Given the description of an element on the screen output the (x, y) to click on. 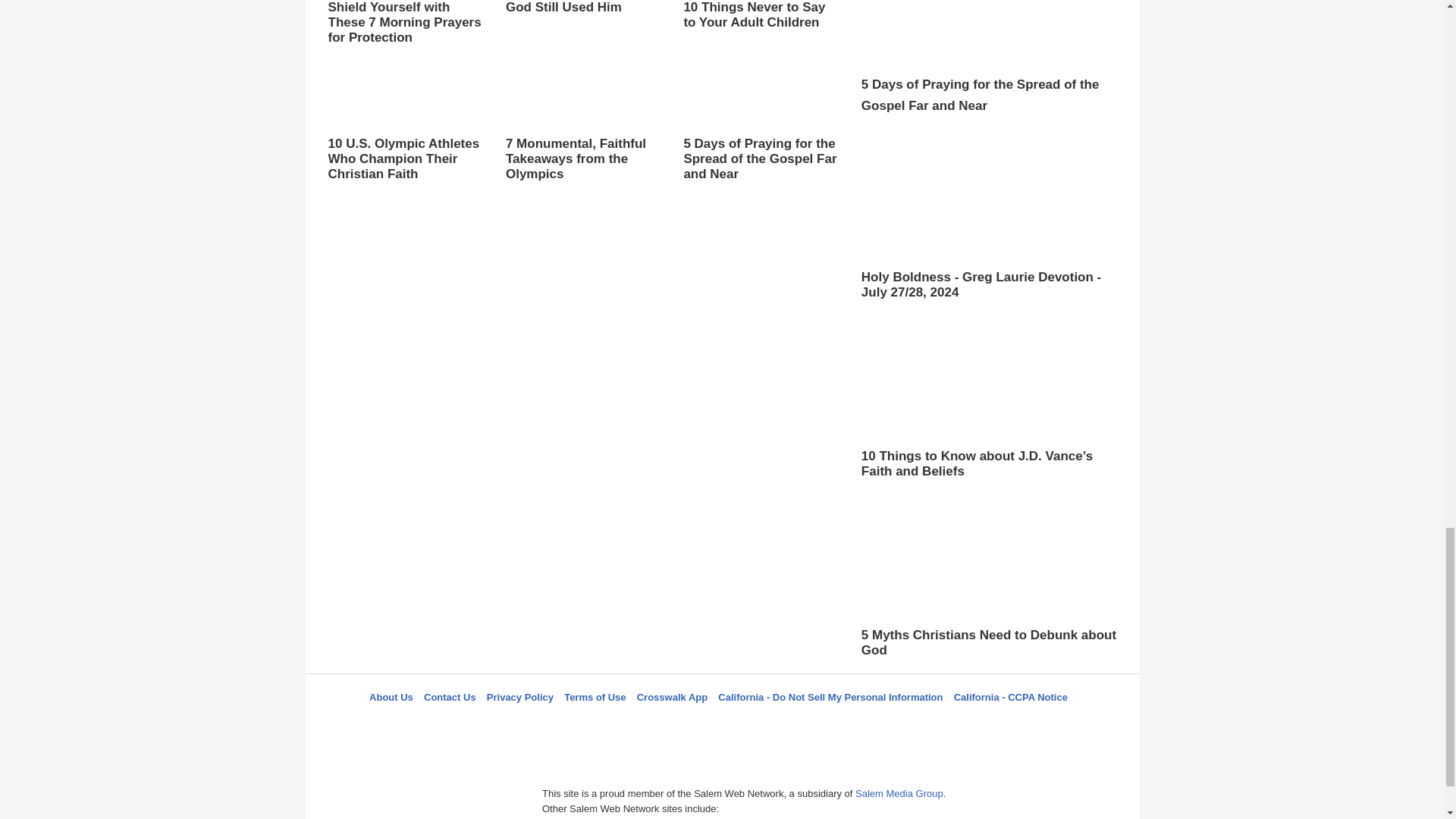
Twitter (683, 724)
10 Things Never to Say to Your Adult Children (760, 15)
YouTube (795, 724)
5 Days of Praying for the Spread of the Gospel Far and Near (760, 130)
10 U.S. Olympic Athletes Who Champion Their Christian Faith (404, 116)
Facebook (645, 724)
LifeAudio (719, 724)
Shield Yourself with These 7 Morning Prayers for Protection (404, 22)
7 Monumental, Faithful Takeaways from the Olympics (583, 116)
Pinterest (757, 724)
God Still Used Him (583, 22)
